Given the description of an element on the screen output the (x, y) to click on. 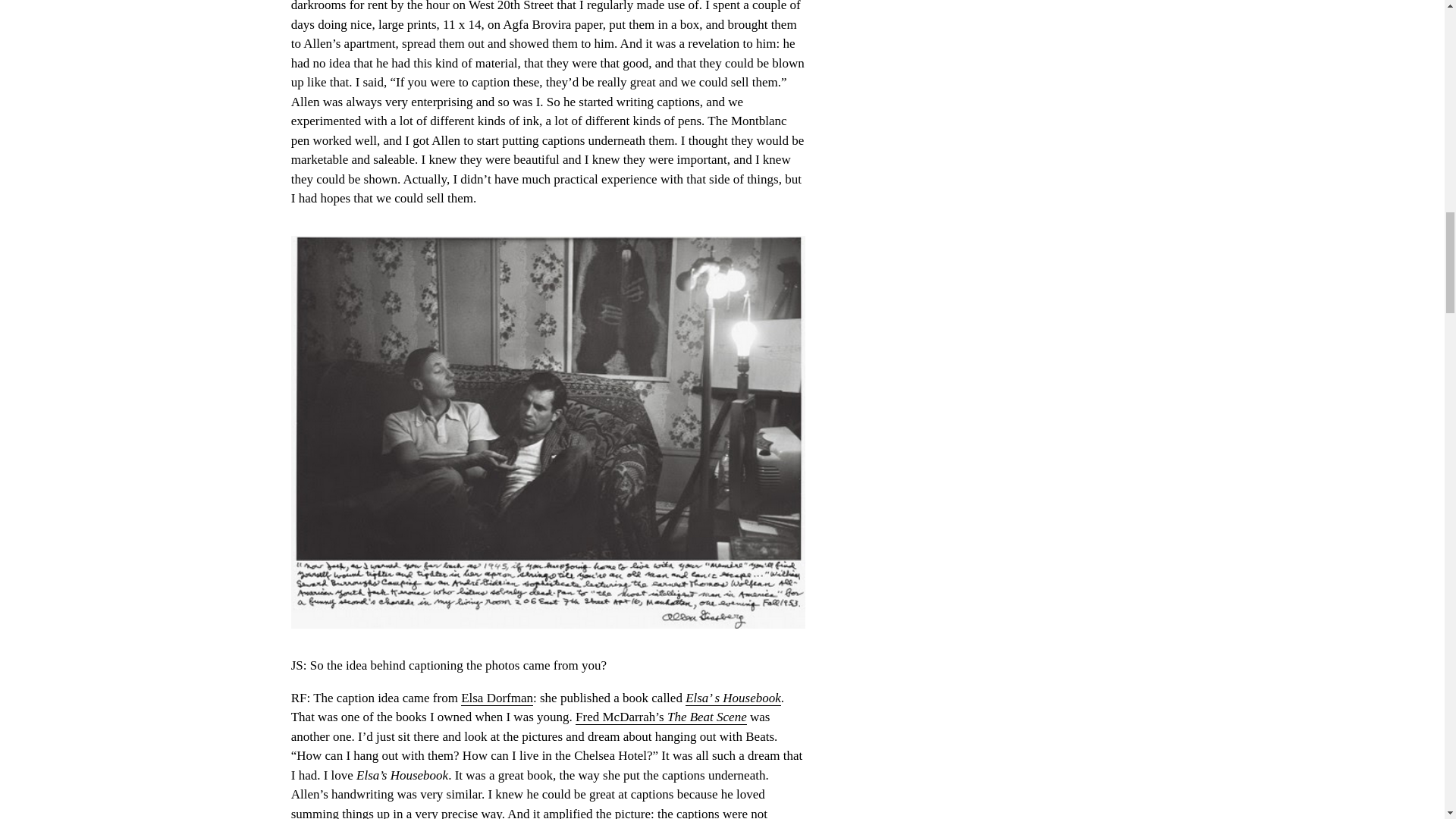
Elsa Dorfman (496, 698)
